Given the description of an element on the screen output the (x, y) to click on. 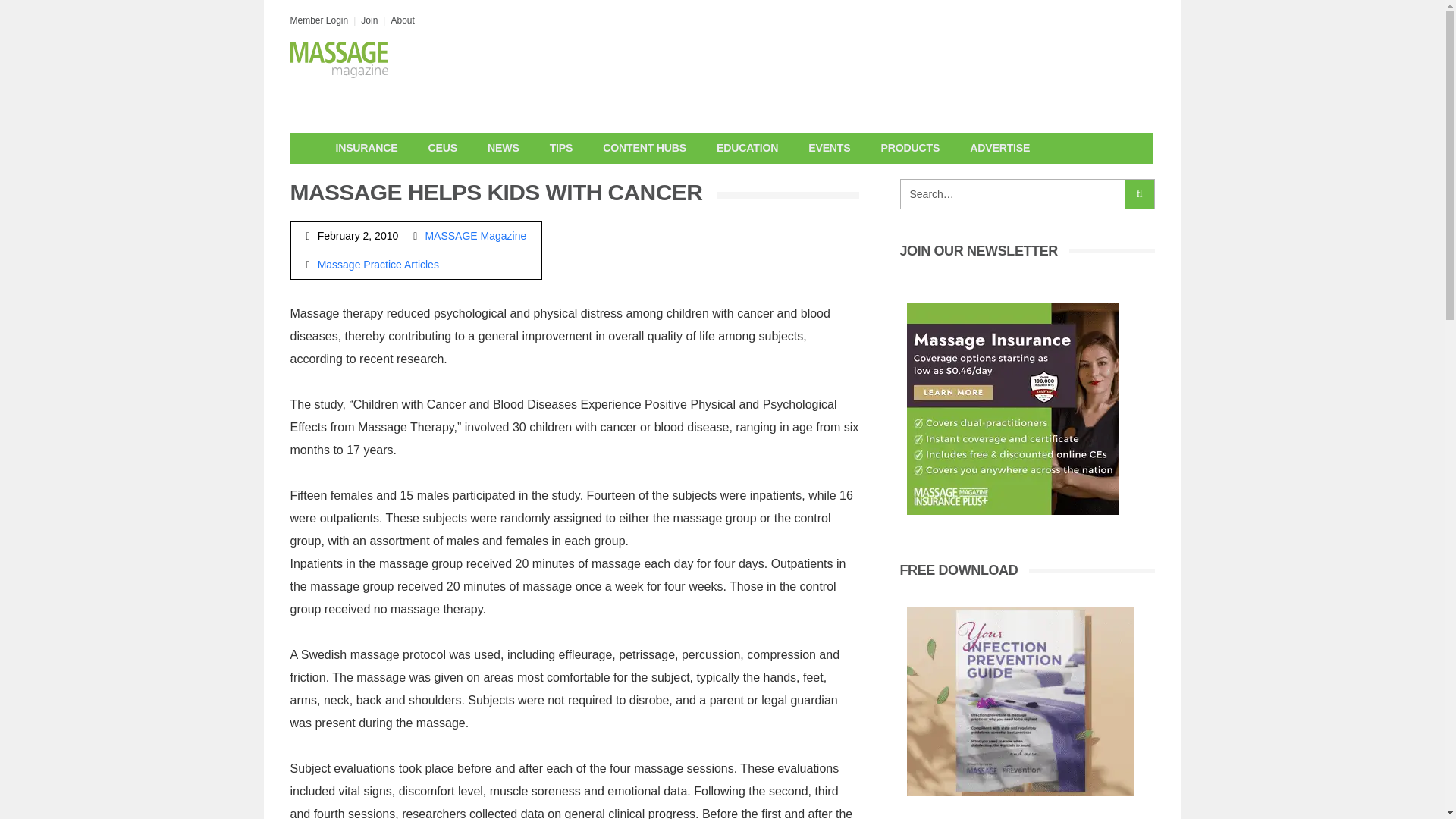
Search for: (1011, 194)
INSURANCE (366, 147)
NEWS (502, 147)
EDUCATION (747, 147)
About (401, 20)
EVENTS (828, 147)
CONTENT HUBS (644, 147)
TIPS (561, 147)
Join (369, 20)
Member Login (318, 20)
